Given the description of an element on the screen output the (x, y) to click on. 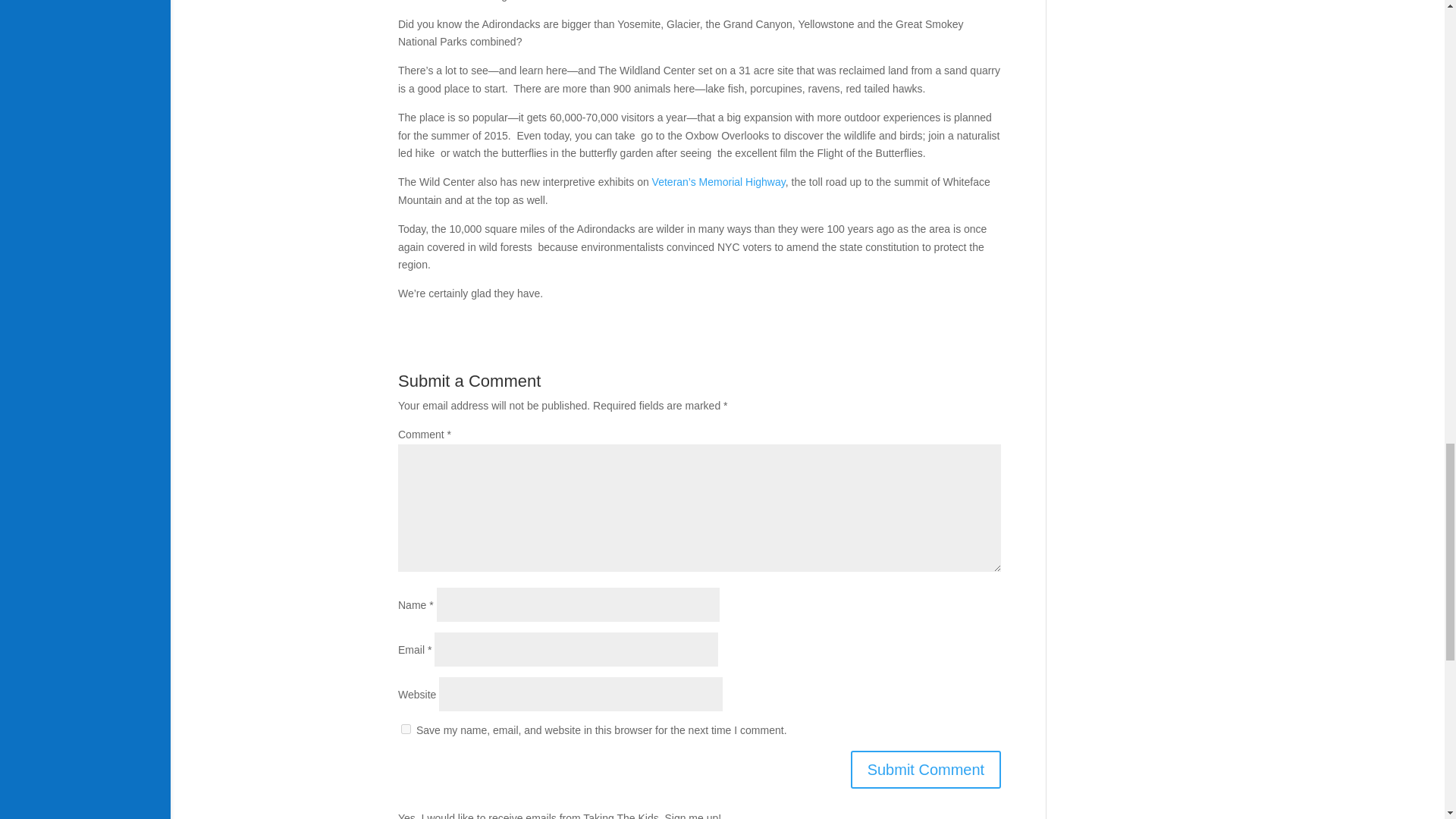
yes (405, 728)
Submit Comment (925, 769)
